Given the description of an element on the screen output the (x, y) to click on. 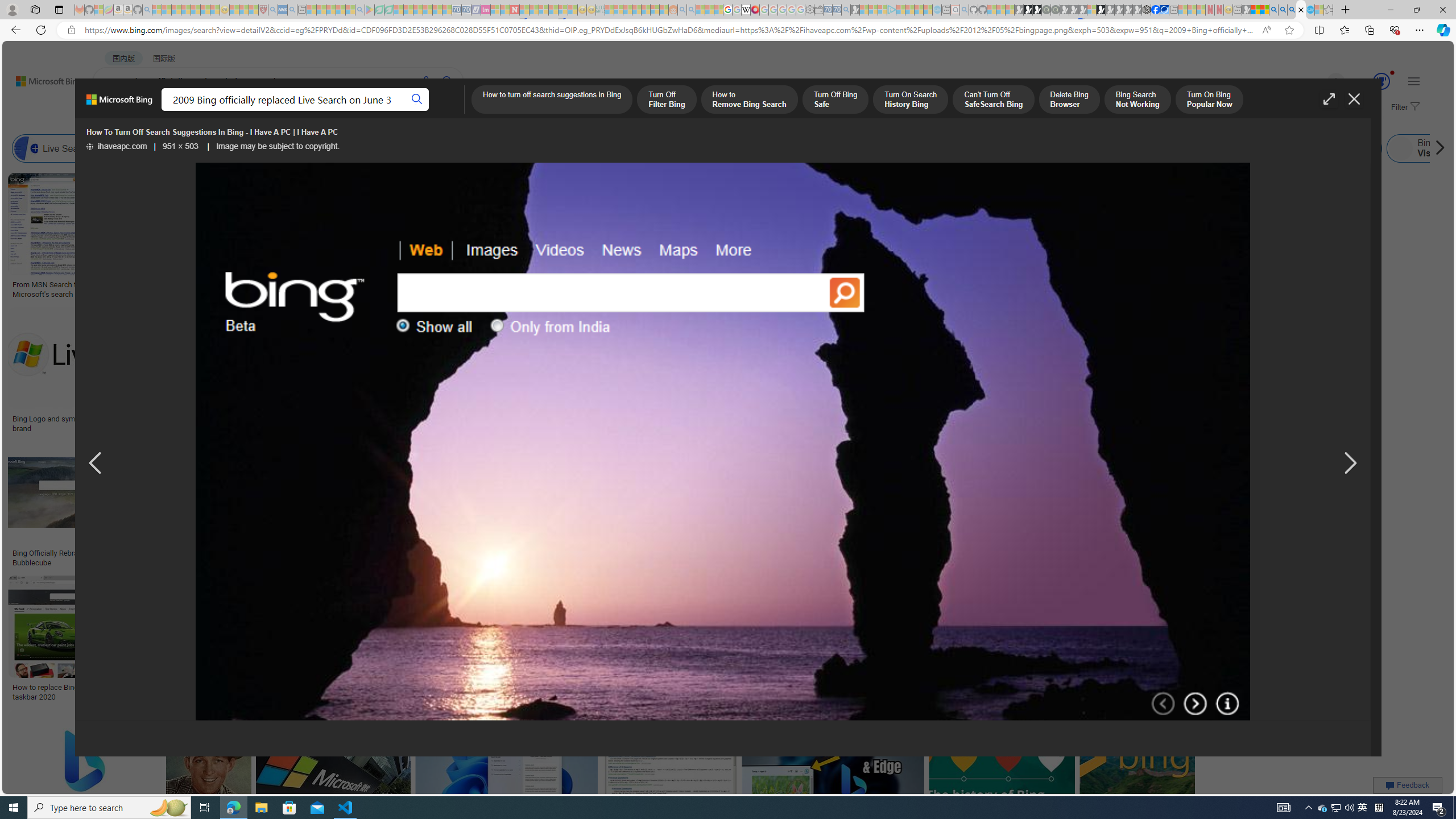
Eugene (1319, 81)
Bing (2009) (RARE/FAKE) - YouTube (925, 552)
Bing Logo, symbol, meaning, history, PNG, brandSave (1123, 237)
Next image result (1349, 463)
Microsoft Live Logo (419, 284)
